Given the description of an element on the screen output the (x, y) to click on. 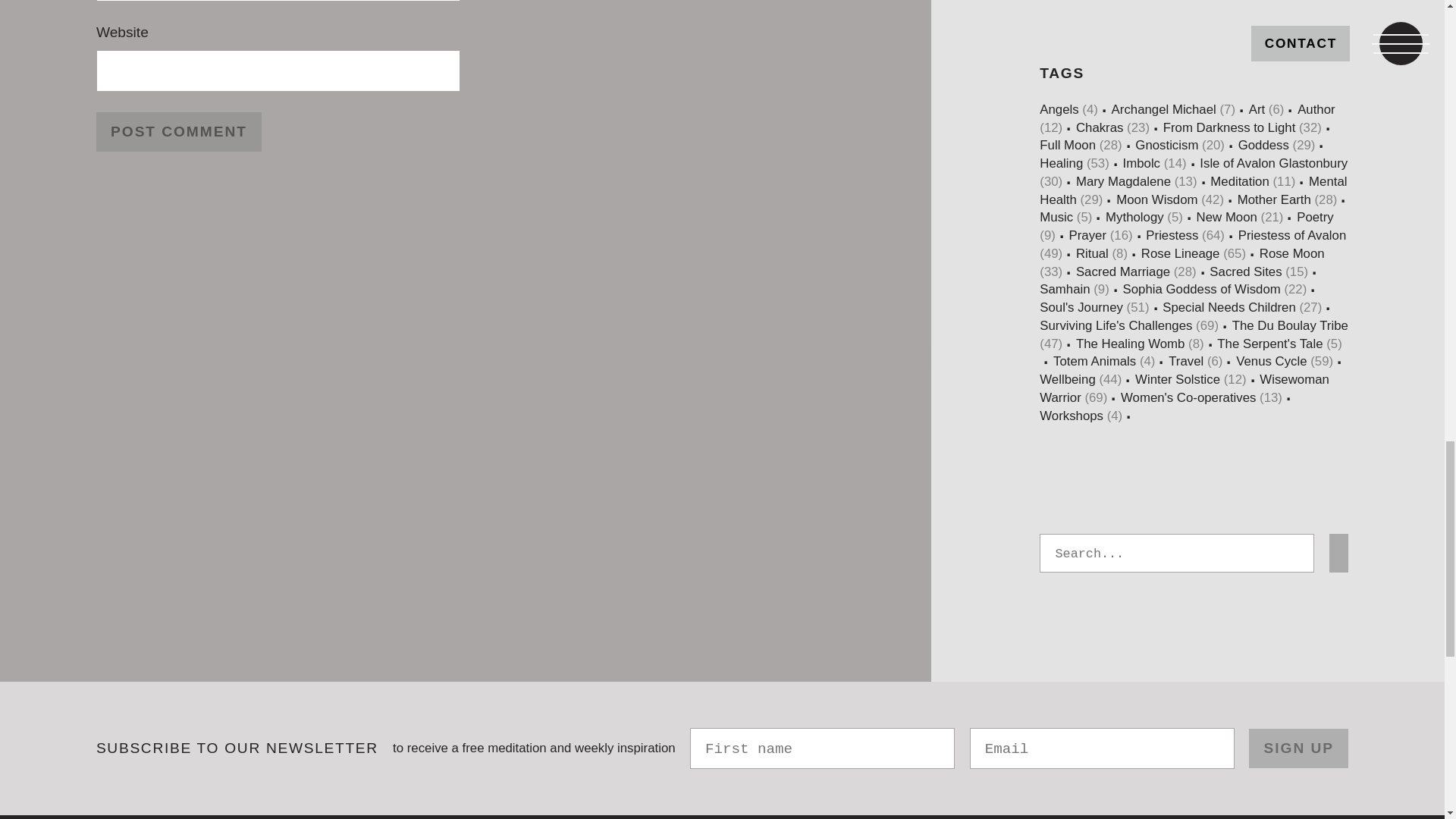
Post Comment (179, 132)
Sign up (1298, 748)
Post Comment (179, 132)
